Given the description of an element on the screen output the (x, y) to click on. 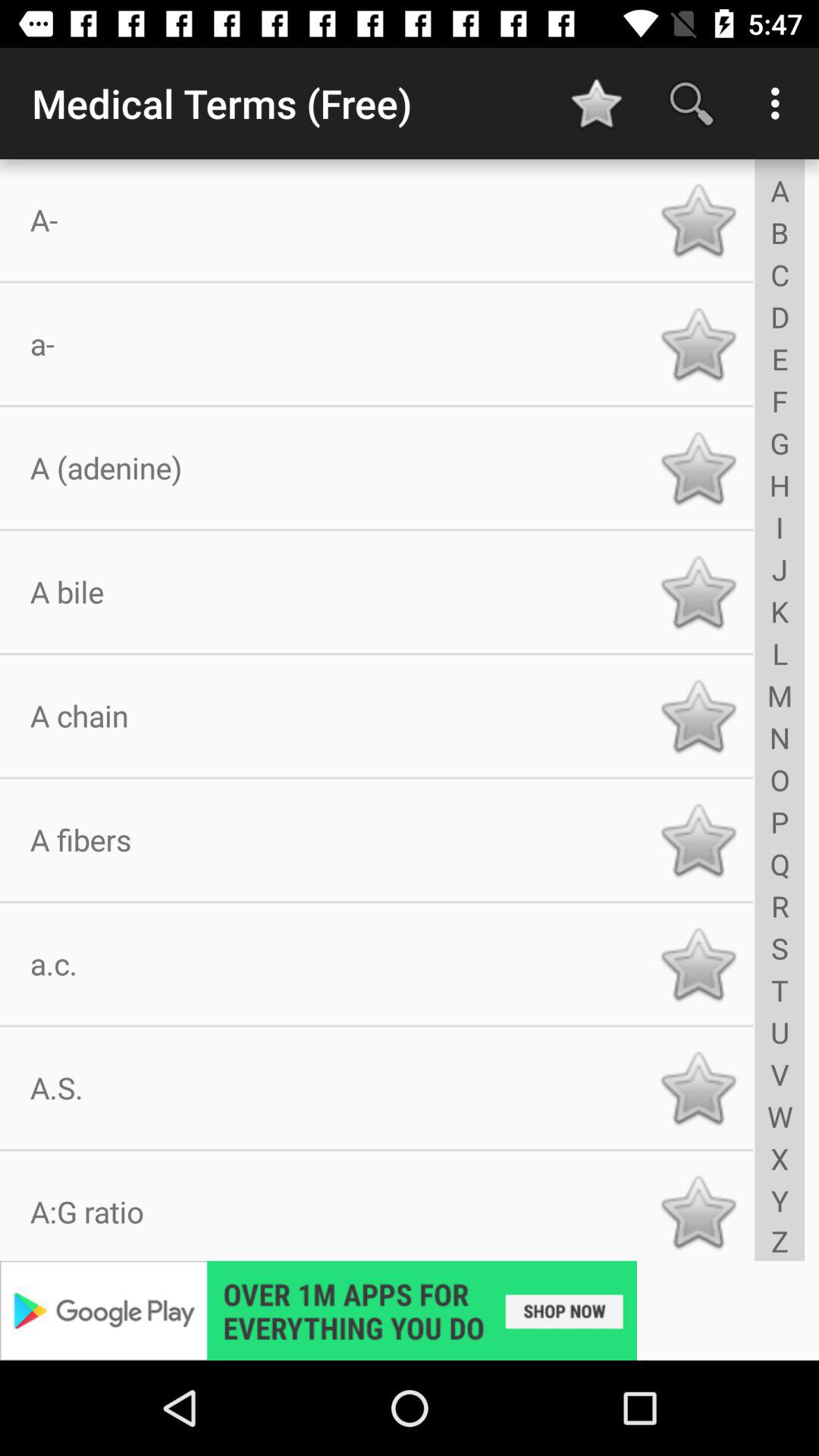
star button (697, 468)
